Given the description of an element on the screen output the (x, y) to click on. 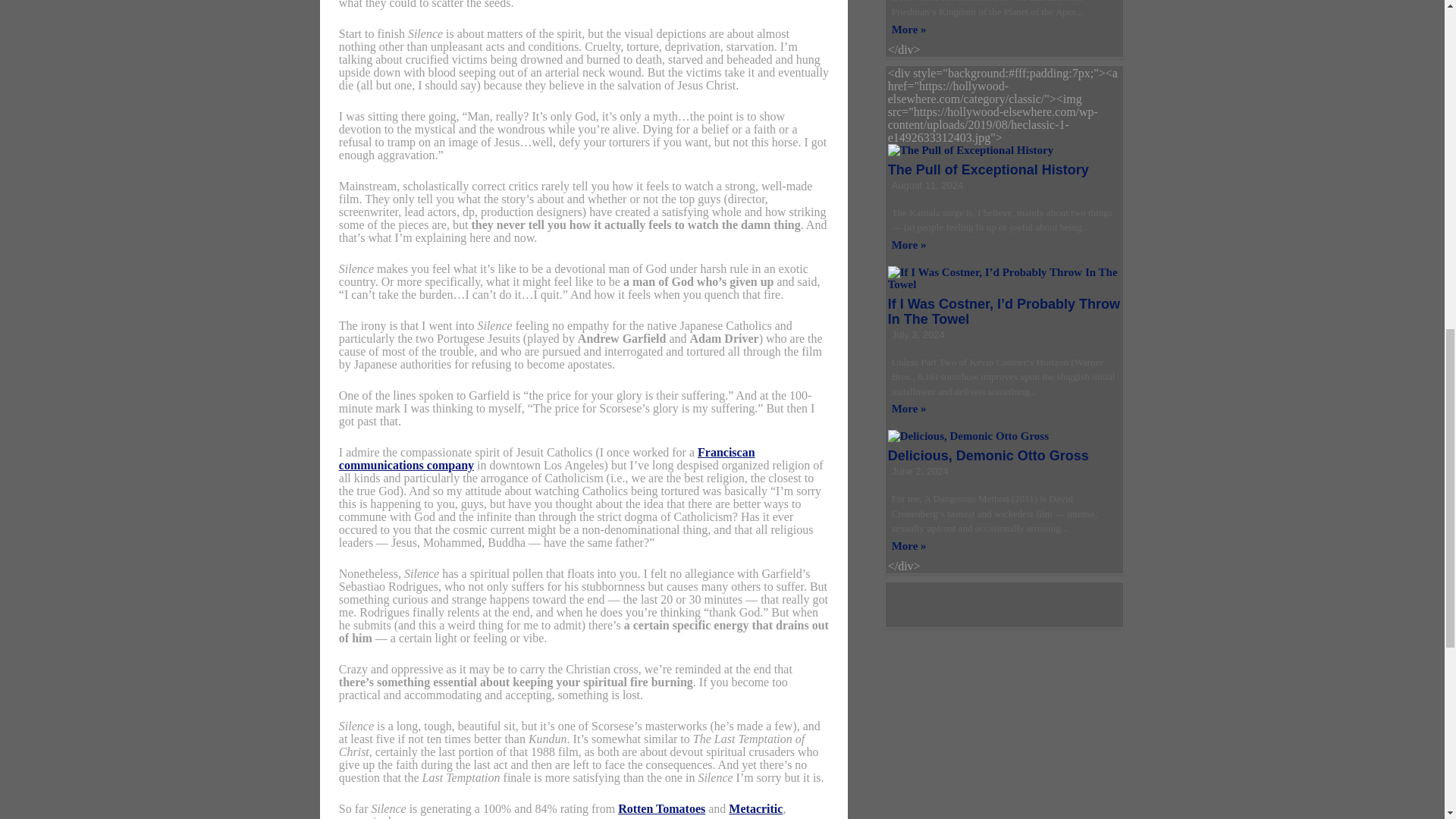
Franciscan communications company (547, 458)
Metacritic (756, 808)
Rotten Tomatoes (660, 808)
